Given the description of an element on the screen output the (x, y) to click on. 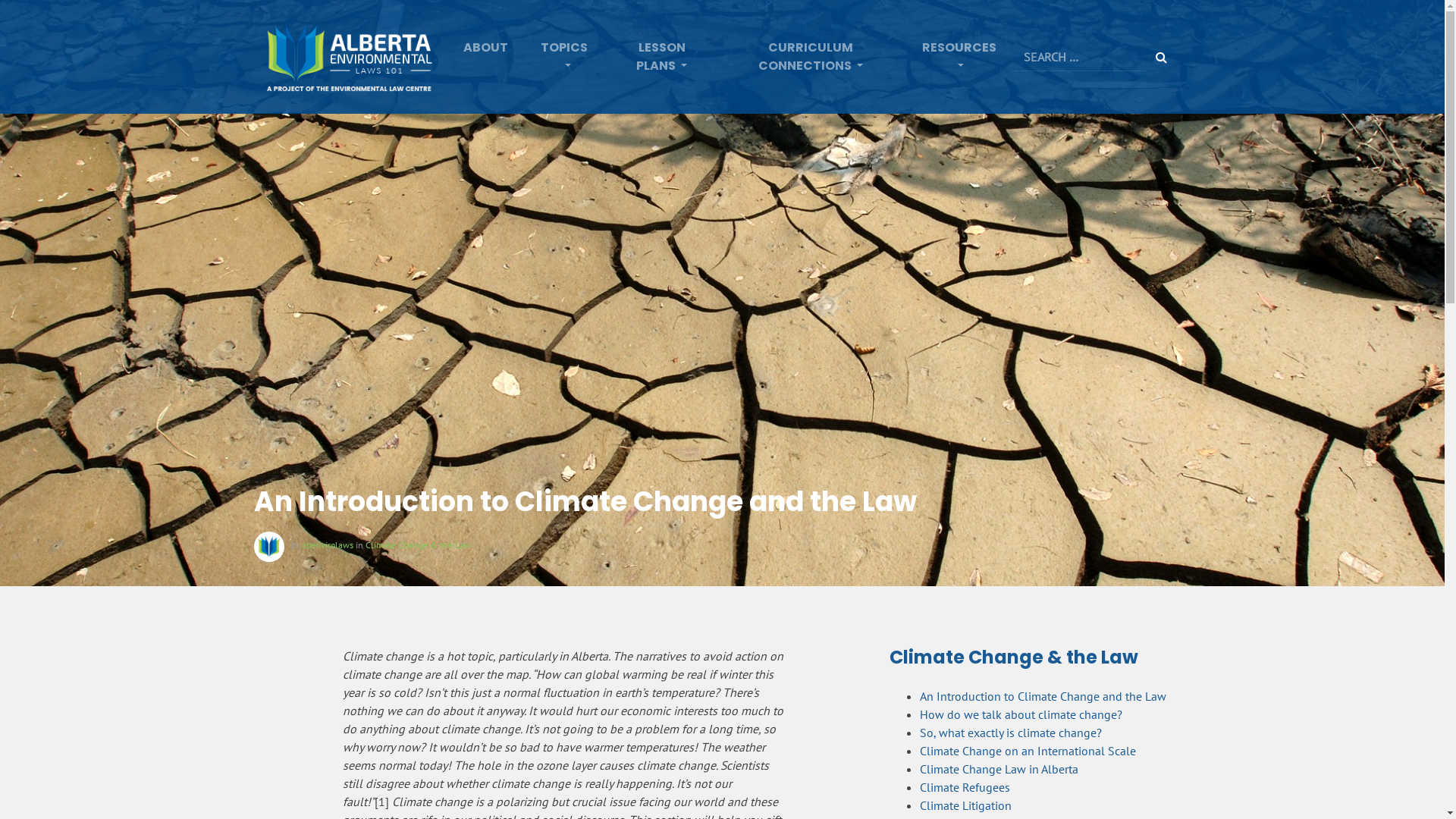
ABOUT Element type: text (485, 47)
Climate Refugees Element type: text (964, 786)
So, what exactly is climate change? Element type: text (1010, 732)
abenvirolaws Element type: text (327, 544)
TOPICS Element type: text (565, 56)
An Introduction to Climate Change and the Law Element type: text (1042, 695)
Climate Change & the Law Element type: text (417, 544)
RESOURCES Element type: text (958, 56)
Climate Change Law in Alberta Element type: text (998, 768)
Climate Change on an International Scale Element type: text (1027, 750)
LESSON PLANS Element type: text (661, 56)
How do we talk about climate change? Element type: text (1020, 713)
CURRICULUM CONNECTIONS Element type: text (810, 56)
Climate Litigation Element type: text (965, 804)
